Given the description of an element on the screen output the (x, y) to click on. 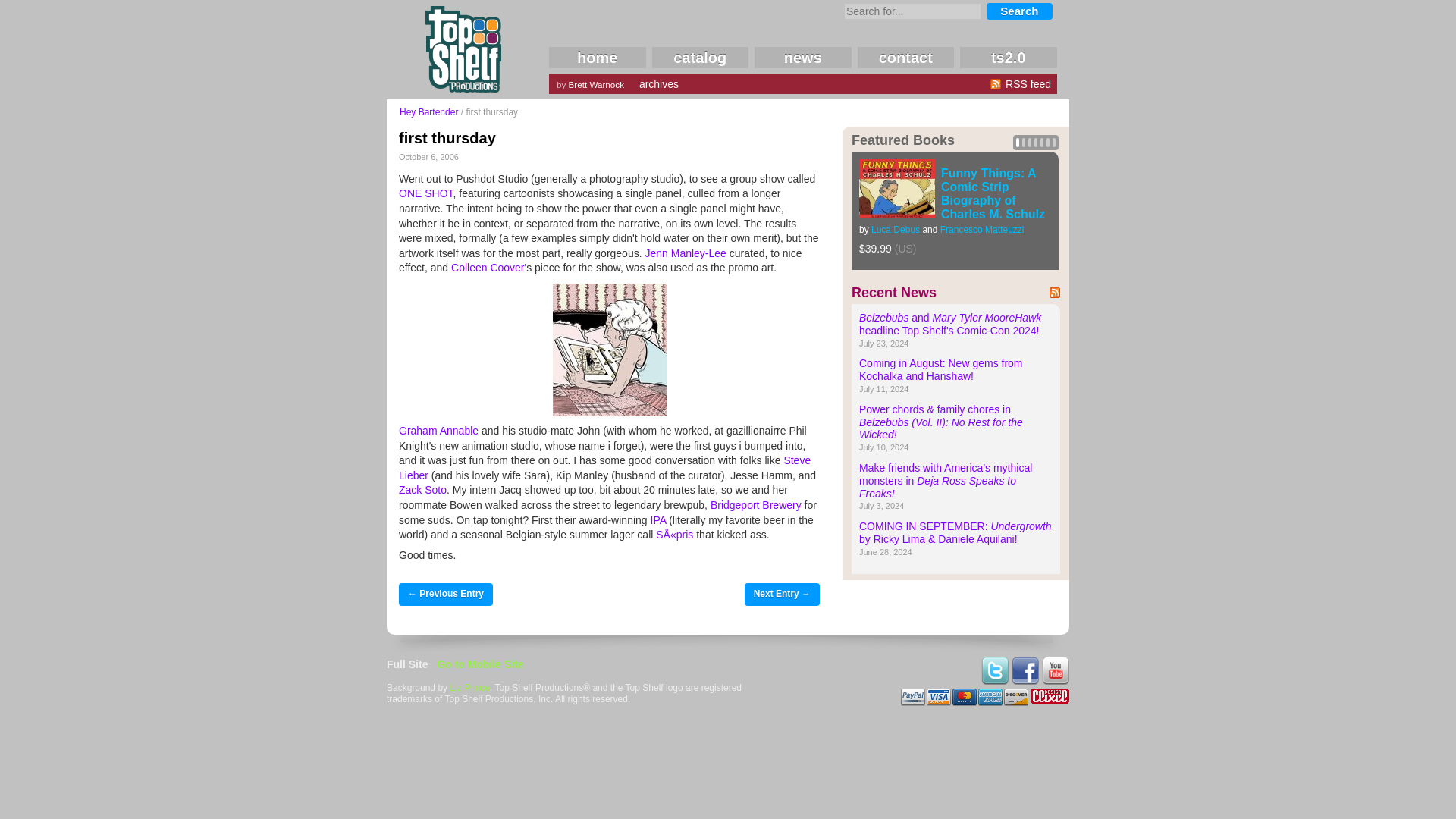
Funny Things: A Comic Strip Biography of Charles M. Schulz (992, 193)
IPA (658, 520)
ts2.0 (1008, 56)
home (597, 56)
catalog (700, 56)
Follow Top Shelf on Twitter (995, 680)
Francesco Matteuzzi (982, 229)
Colleen Coover (487, 267)
Watch Top Shelf videos on YouTube (1055, 680)
Zack Soto (422, 490)
